Given the description of an element on the screen output the (x, y) to click on. 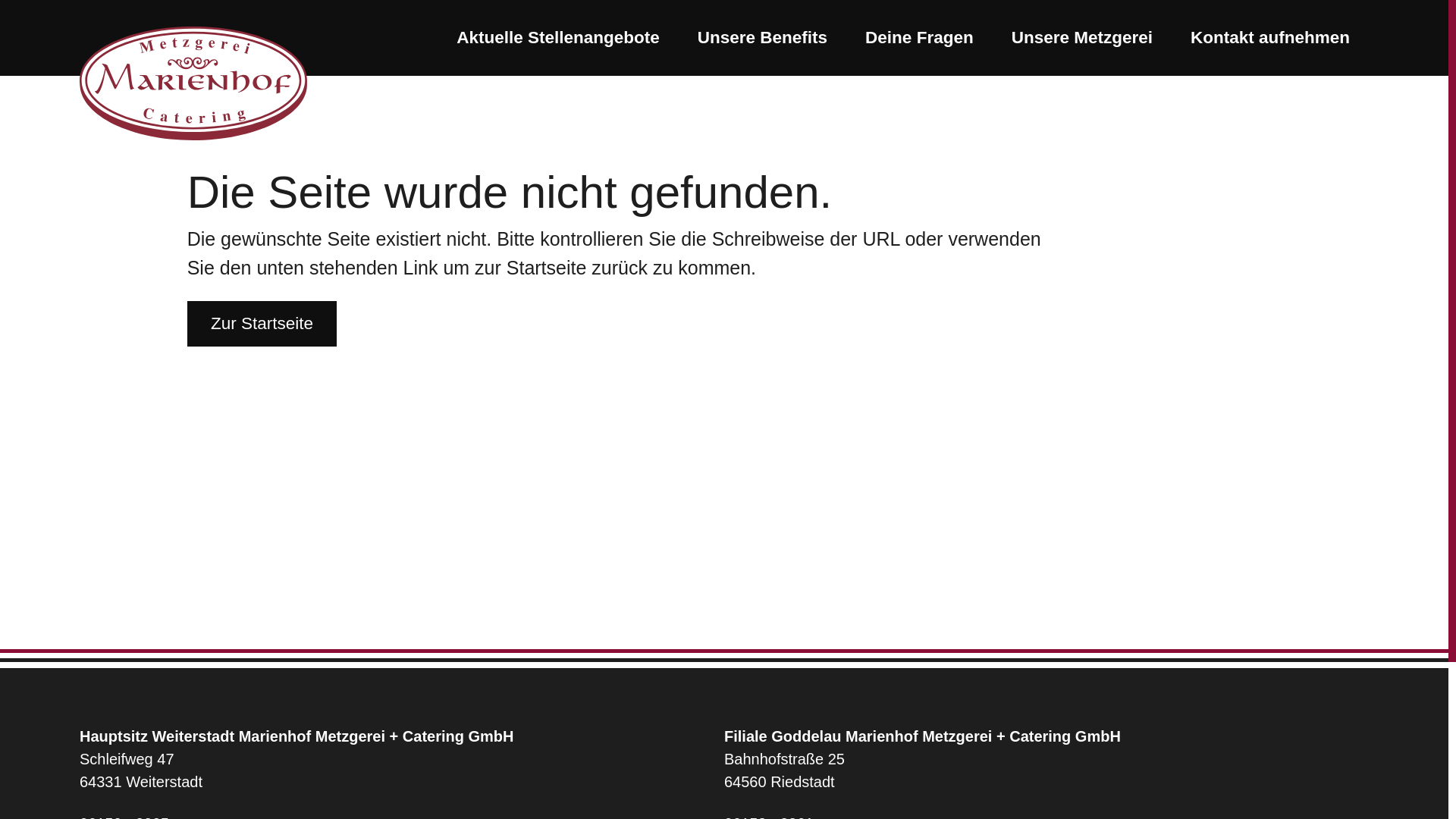
Unsere Benefits (762, 37)
Deine Fragen (919, 37)
Zur Startseite (193, 83)
Unsere Metzgerei (1081, 37)
Zur Startseite (262, 323)
Kontakt aufnehmen (1269, 37)
